Given the description of an element on the screen output the (x, y) to click on. 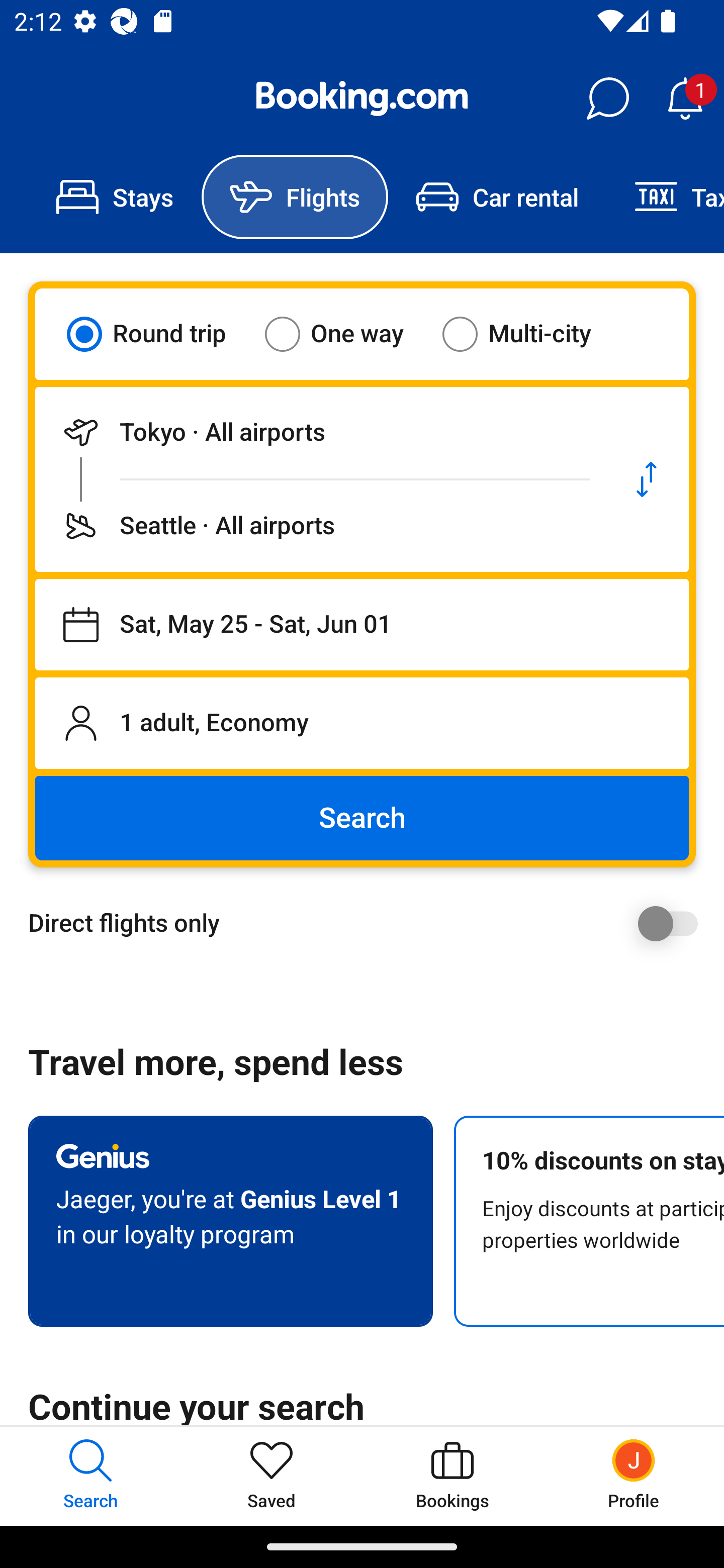
Messages (607, 98)
Notifications (685, 98)
Stays (114, 197)
Flights (294, 197)
Car rental (497, 197)
Taxi (665, 197)
One way (346, 333)
Multi-city (528, 333)
Departing from Tokyo · All airports (319, 432)
Swap departure location and destination (646, 479)
Flying to Seattle · All airports (319, 525)
Departing on Sat, May 25, returning on Sat, Jun 01 (361, 624)
1 adult, Economy (361, 722)
Search (361, 818)
Direct flights only (369, 923)
Saved (271, 1475)
Bookings (452, 1475)
Profile (633, 1475)
